Given the description of an element on the screen output the (x, y) to click on. 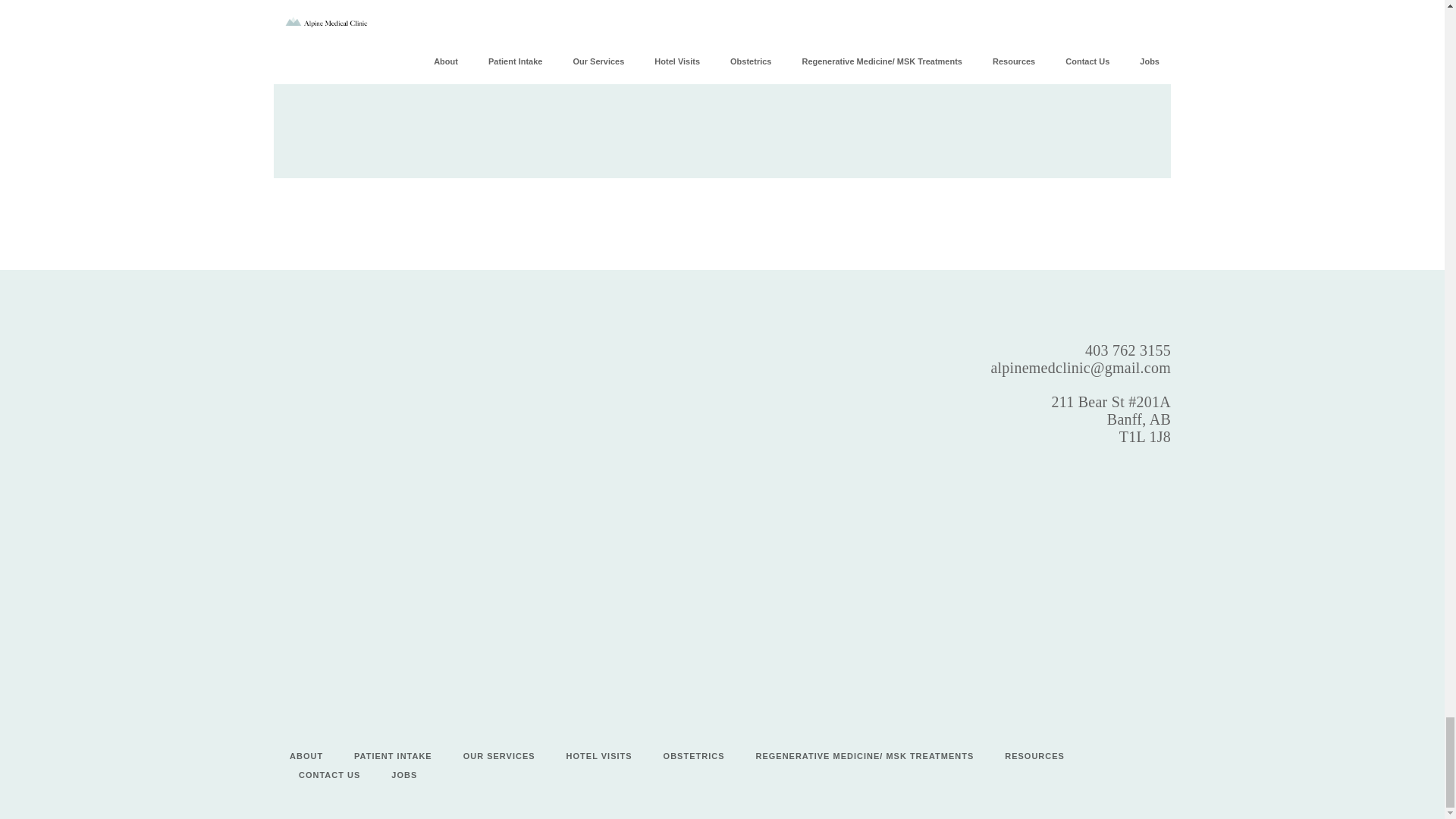
RESOURCES (1034, 755)
CONTACT US (328, 774)
OBSTETRICS (694, 755)
PATIENT INTAKE (392, 755)
OUR SERVICES (499, 755)
JOBS (403, 774)
HOTEL VISITS (598, 755)
ABOUT (306, 755)
